Given the description of an element on the screen output the (x, y) to click on. 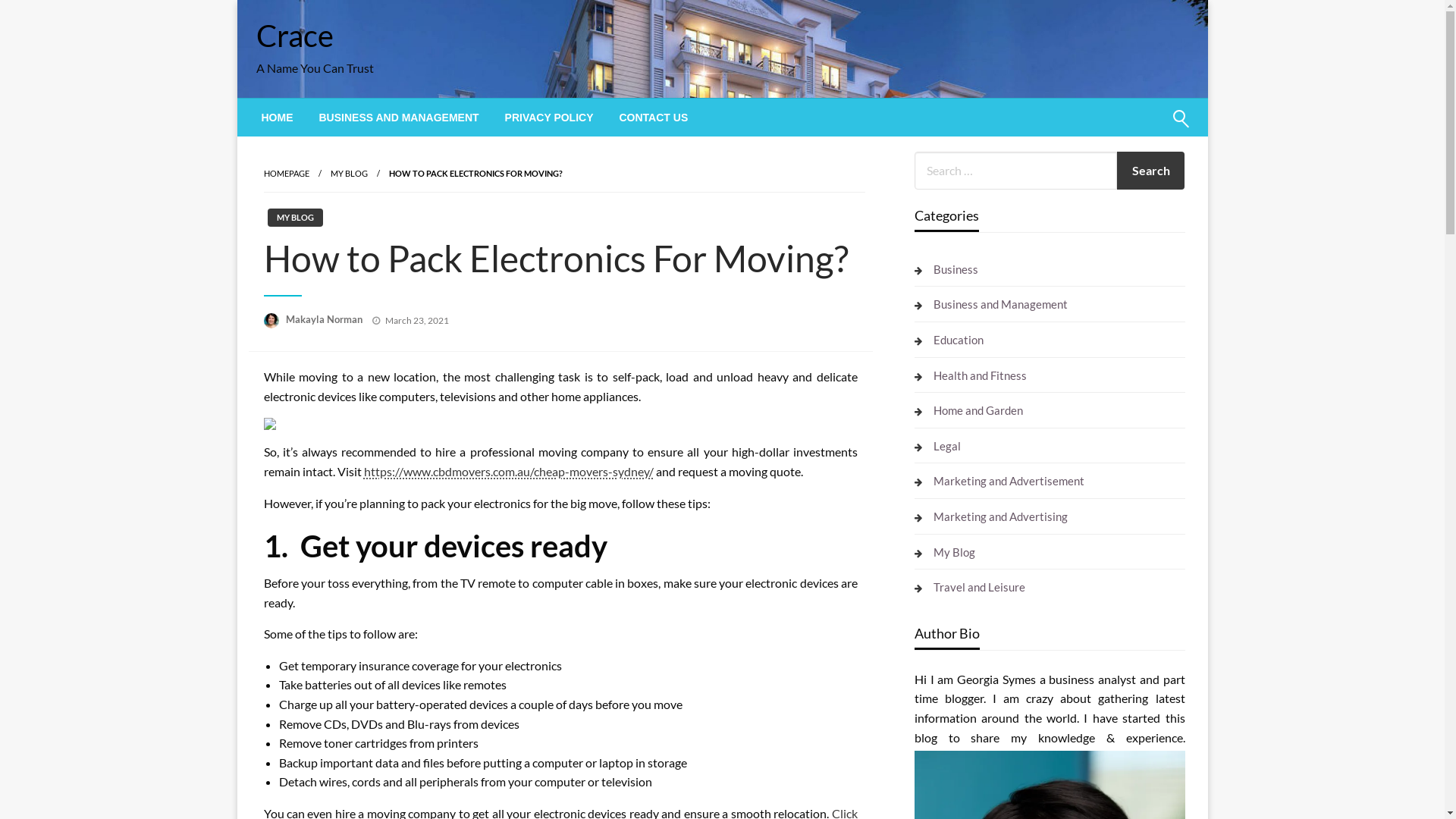
Business and Management Element type: text (990, 303)
My Blog Element type: text (944, 551)
MY BLOG Element type: text (294, 217)
Education Element type: text (948, 339)
Marketing and Advertisement Element type: text (999, 480)
Marketing and Advertising Element type: text (990, 516)
CONTACT US Element type: text (653, 117)
HOMEPAGE Element type: text (286, 173)
March 23, 2021 Element type: text (416, 320)
Makayla Norman Element type: text (324, 319)
Travel and Leisure Element type: text (969, 586)
BUSINESS AND MANAGEMENT Element type: text (399, 117)
PRIVACY POLICY Element type: text (549, 117)
Search Element type: text (1143, 128)
Legal Element type: text (937, 445)
Crace Element type: text (294, 35)
Search Element type: text (1150, 170)
Business Element type: text (946, 268)
Health and Fitness Element type: text (970, 374)
HOME Element type: text (277, 117)
MY BLOG Element type: text (348, 173)
Home and Garden Element type: text (968, 409)
https://www.cbdmovers.com.au/cheap-movers-sydney/ Element type: text (508, 471)
